Given the description of an element on the screen output the (x, y) to click on. 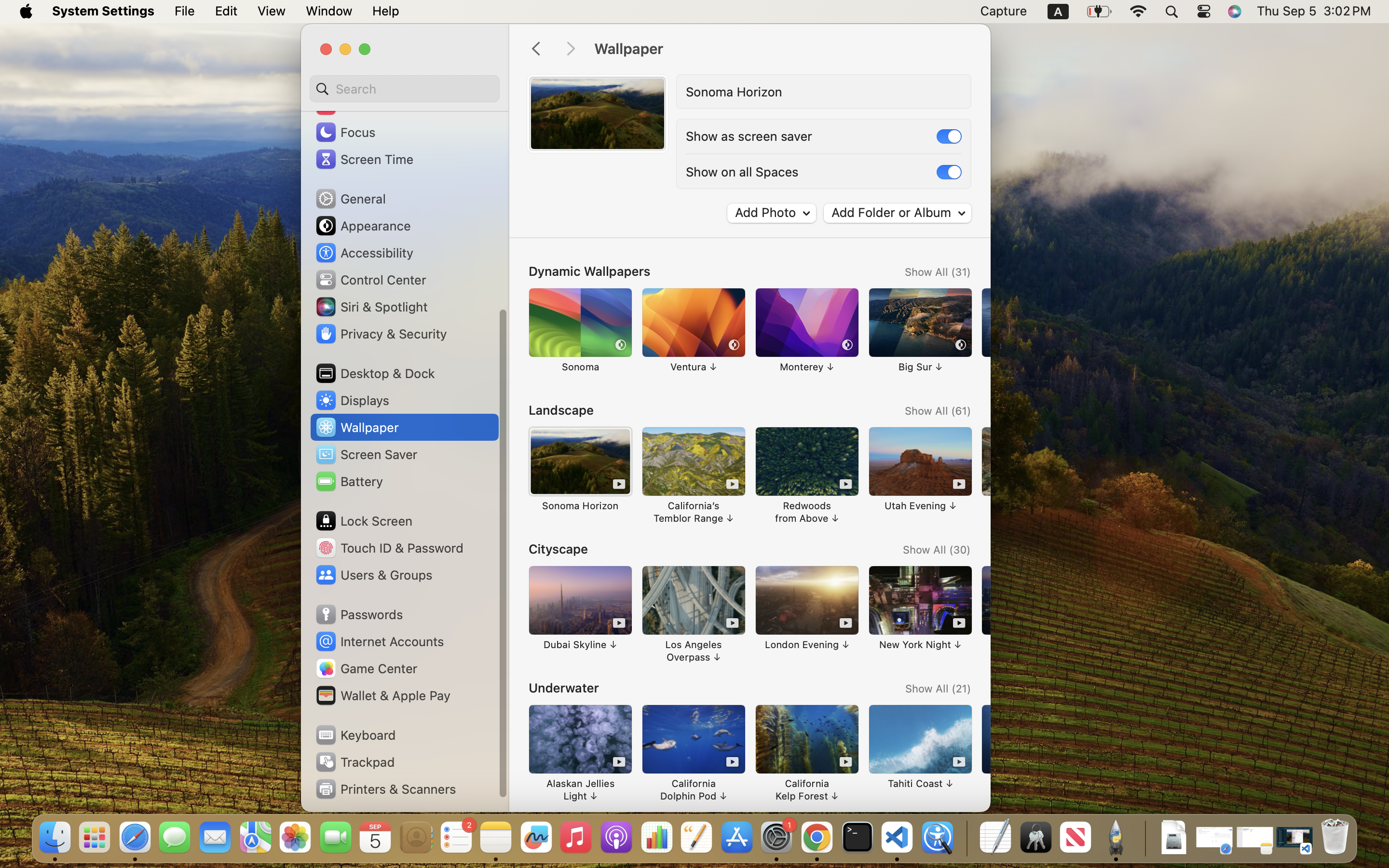
Accessibility Element type: AXStaticText (363, 252)
Lock Screen Element type: AXStaticText (363, 520)
Displays Element type: AXStaticText (351, 399)
General Element type: AXStaticText (349, 198)
